Given the description of an element on the screen output the (x, y) to click on. 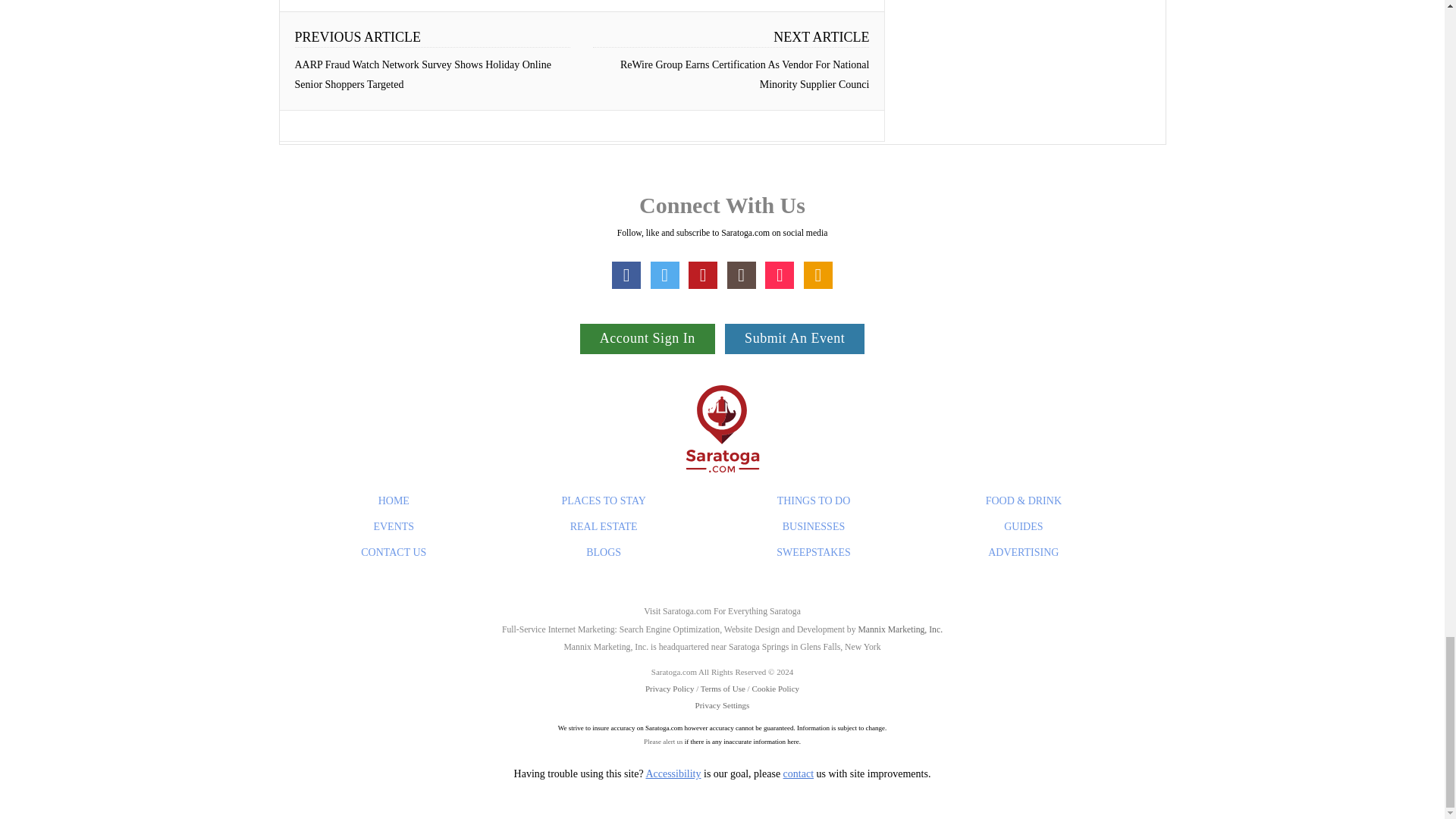
X (664, 275)
TikTok (779, 275)
My Planner (817, 275)
Instagram (740, 275)
Facebook (625, 275)
Pinterest (702, 275)
